Given the description of an element on the screen output the (x, y) to click on. 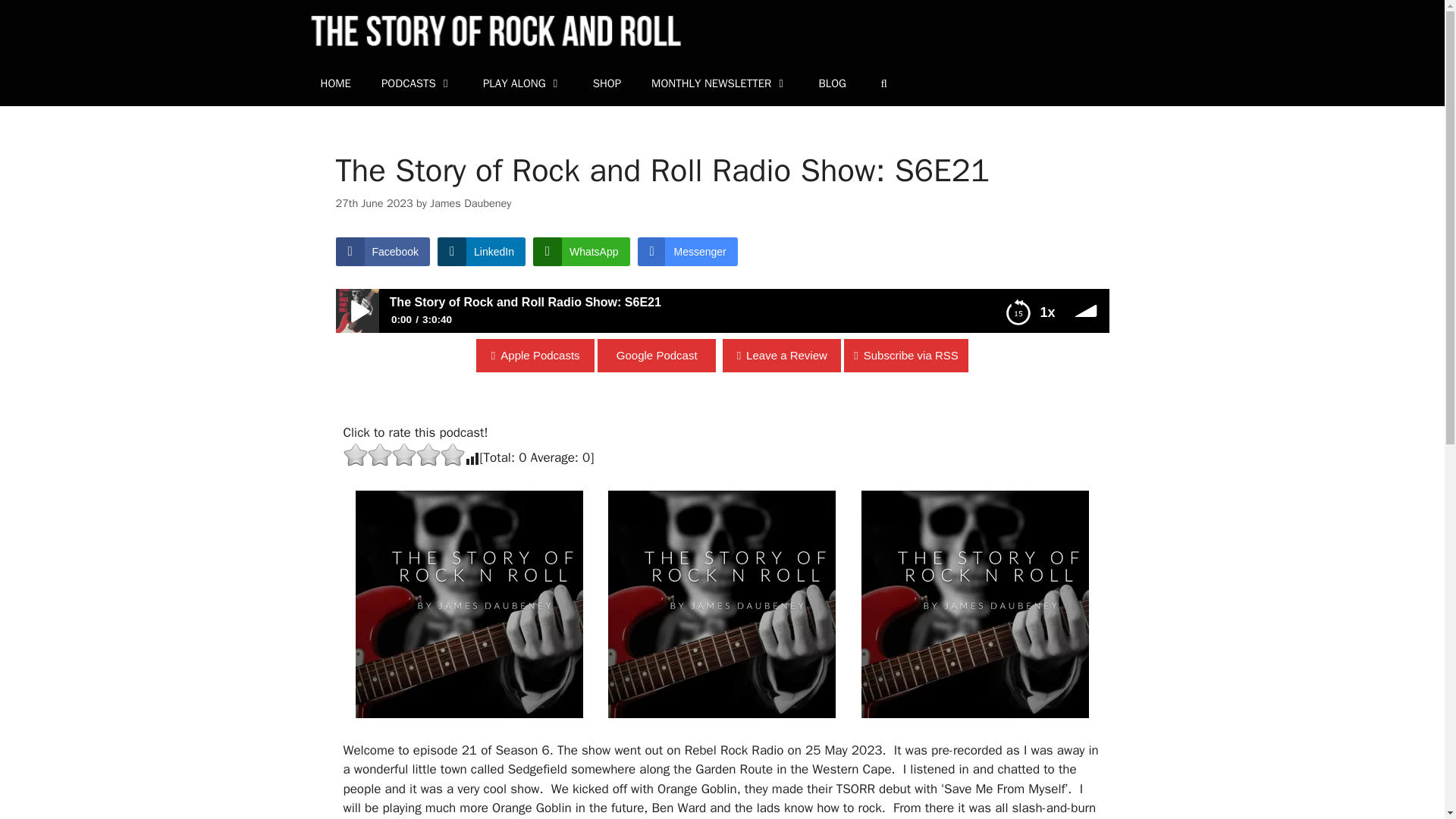
The Story of Rock and Roll (517, 30)
The Story of Rock and Roll (513, 30)
View all posts by James Daubeney (470, 202)
